Given the description of an element on the screen output the (x, y) to click on. 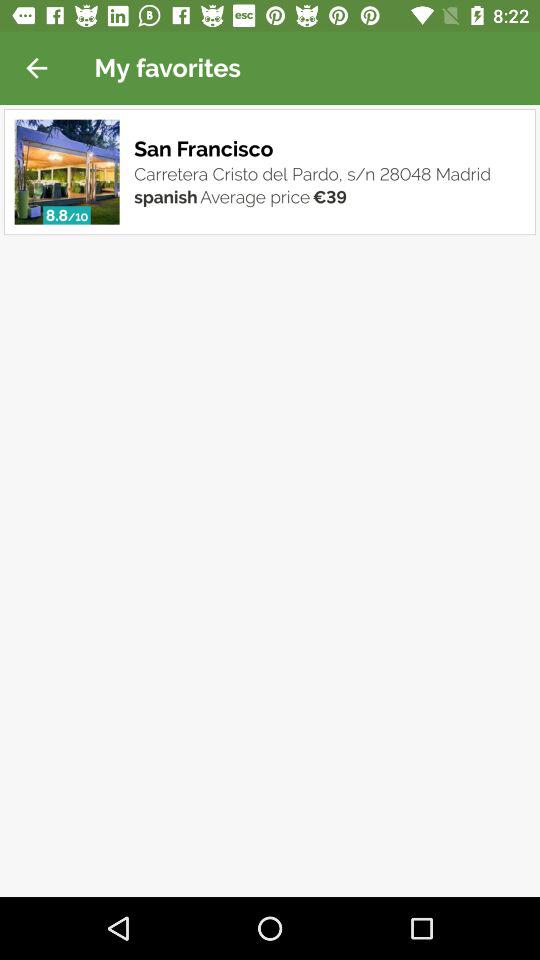
choose the san francisco icon (206, 148)
